Given the description of an element on the screen output the (x, y) to click on. 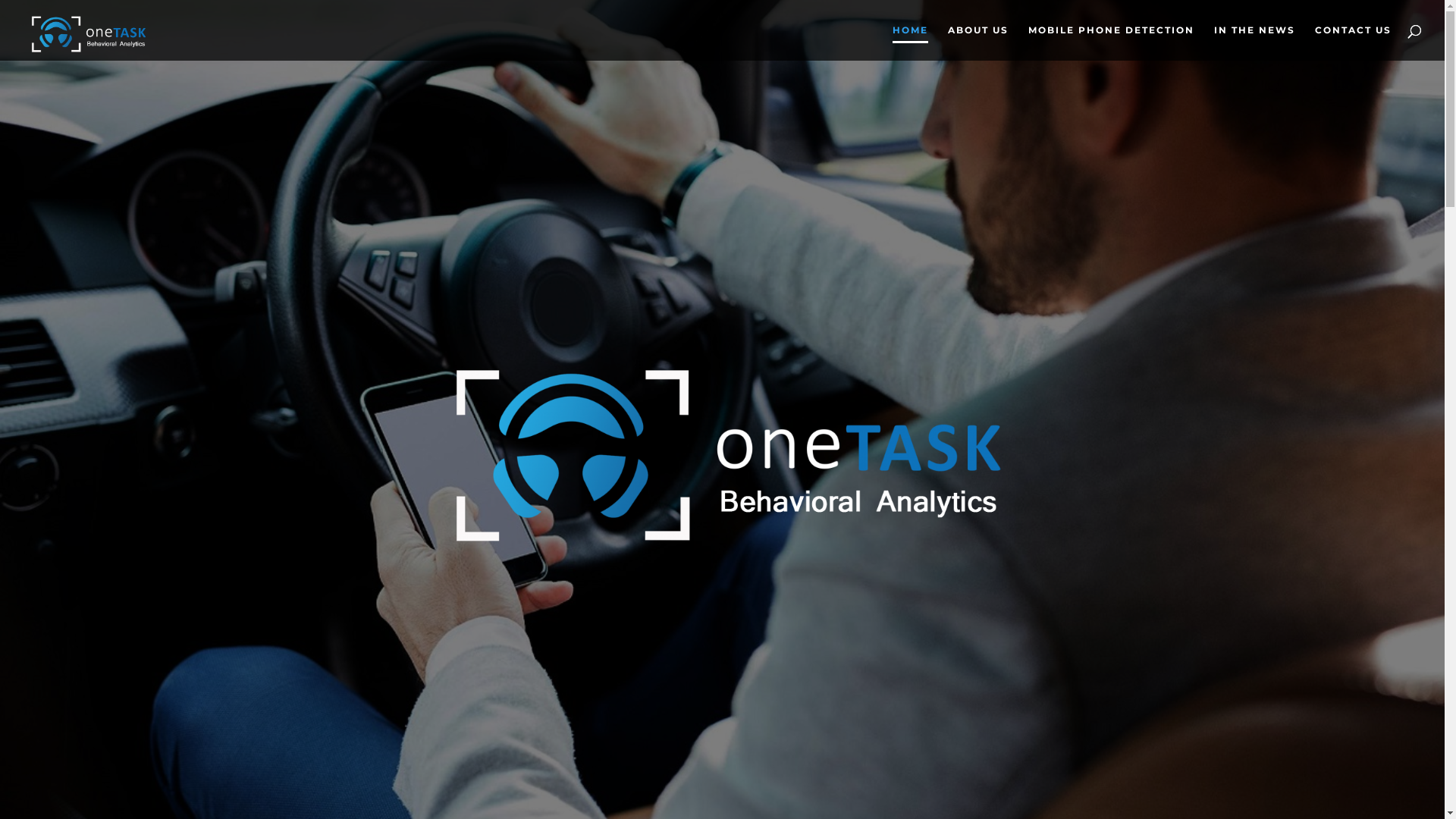
ABOUT US Element type: text (977, 42)
IN THE NEWS Element type: text (1254, 42)
HOME Element type: text (910, 42)
CONTACT US Element type: text (1352, 42)
MOBILE PHONE DETECTION Element type: text (1111, 42)
